Given the description of an element on the screen output the (x, y) to click on. 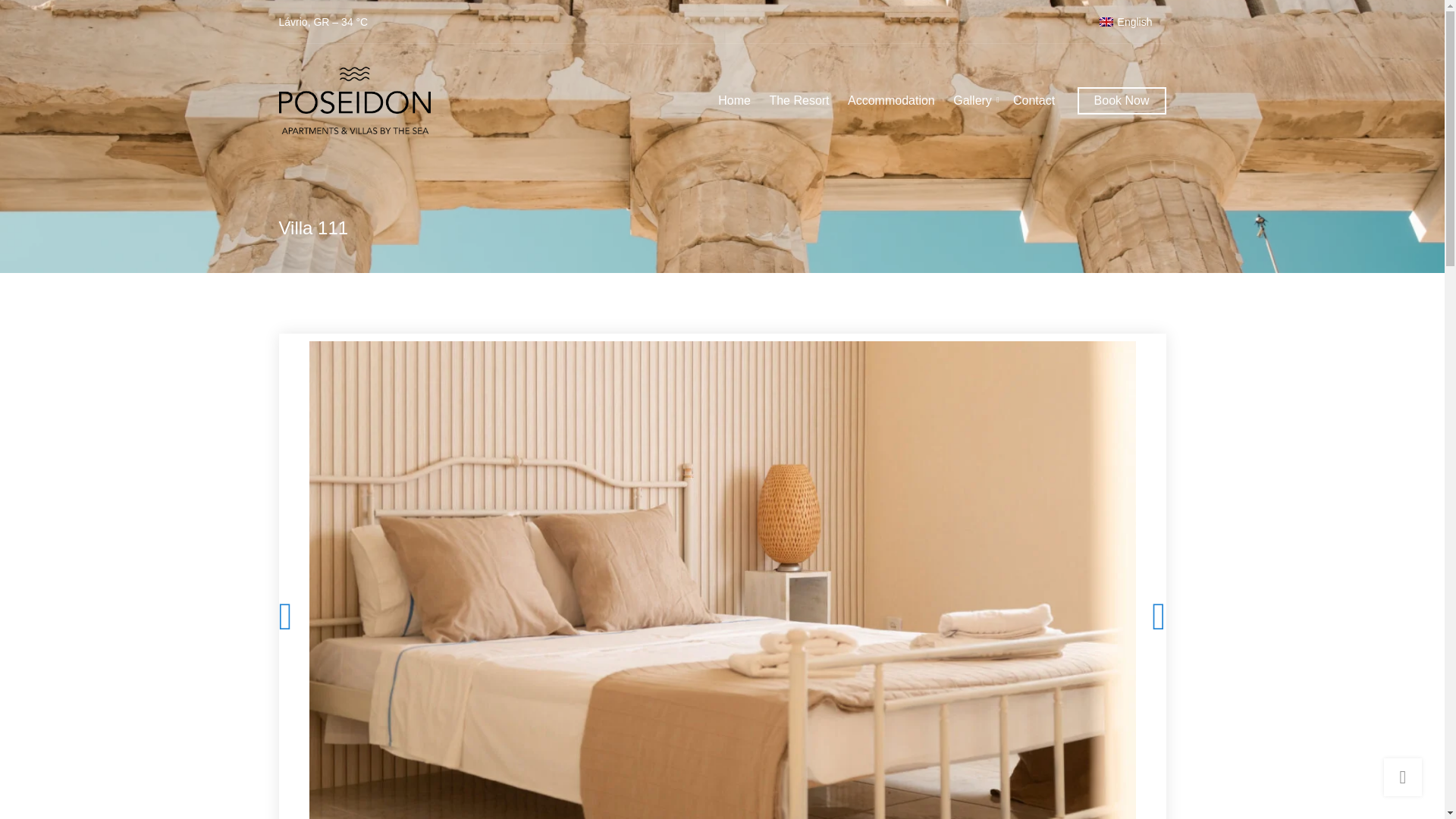
Contact (1033, 100)
Gallery (973, 100)
Book Now (1121, 100)
English (1126, 21)
The Resort (798, 100)
Home (734, 100)
Accommodation (890, 100)
